Given the description of an element on the screen output the (x, y) to click on. 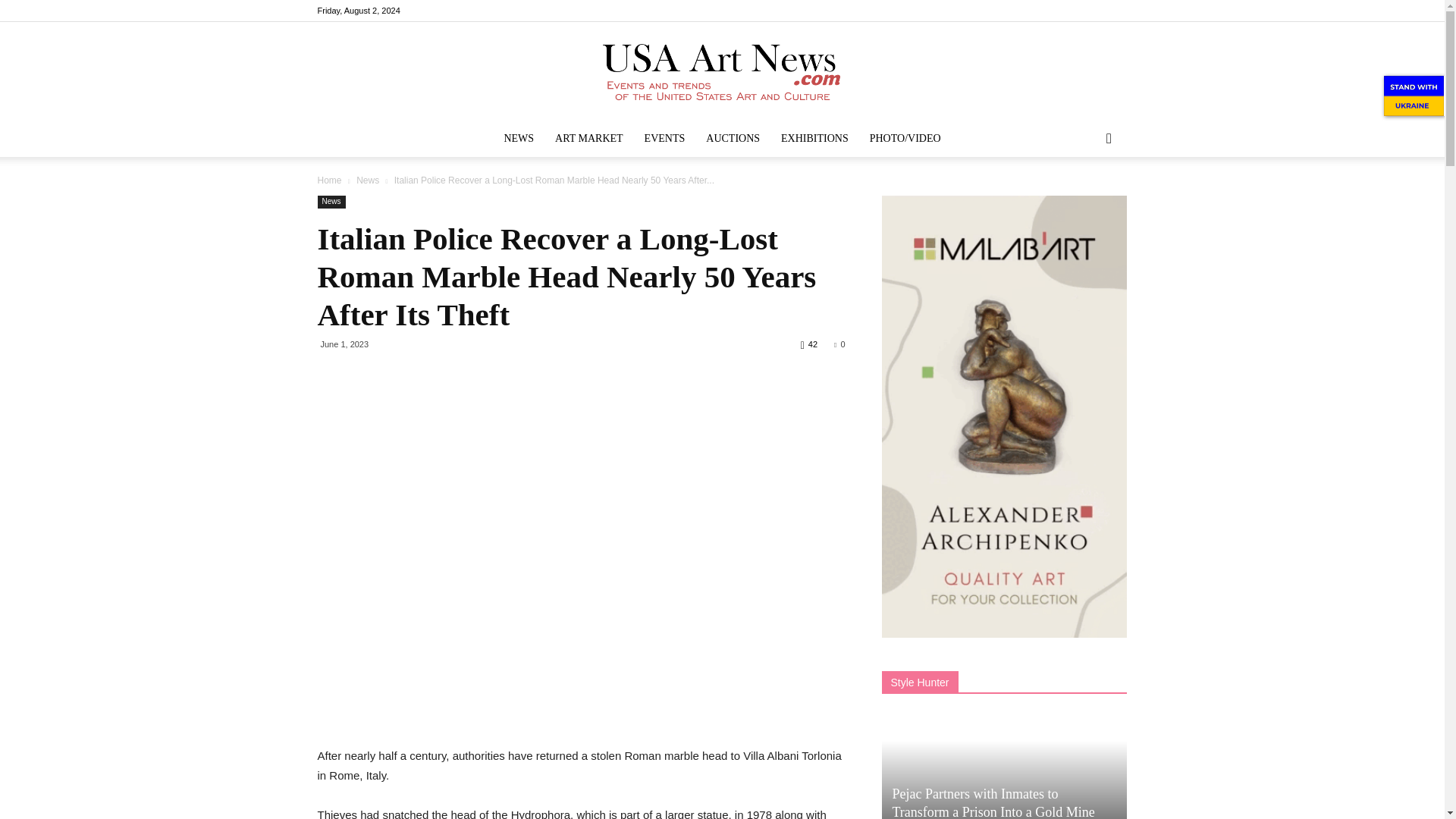
EVENTS (664, 138)
NEWS (518, 138)
RSS (1090, 10)
Twitter (1114, 10)
Facebook (1040, 10)
Instagram (1065, 10)
ART MARKET (588, 138)
